Given the description of an element on the screen output the (x, y) to click on. 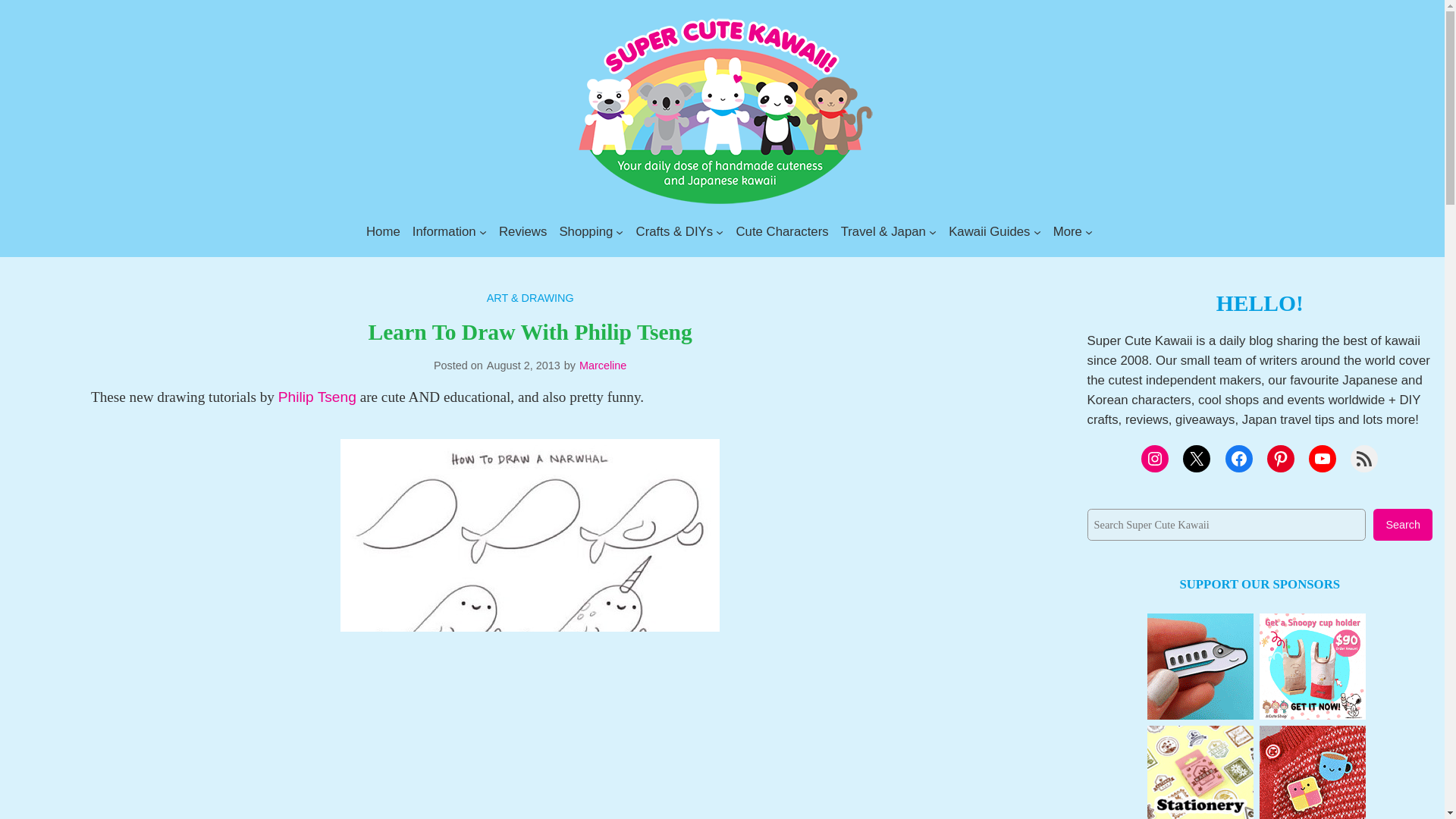
Home (383, 231)
Shopping (585, 231)
Reviews (523, 231)
Information (444, 231)
